Given the description of an element on the screen output the (x, y) to click on. 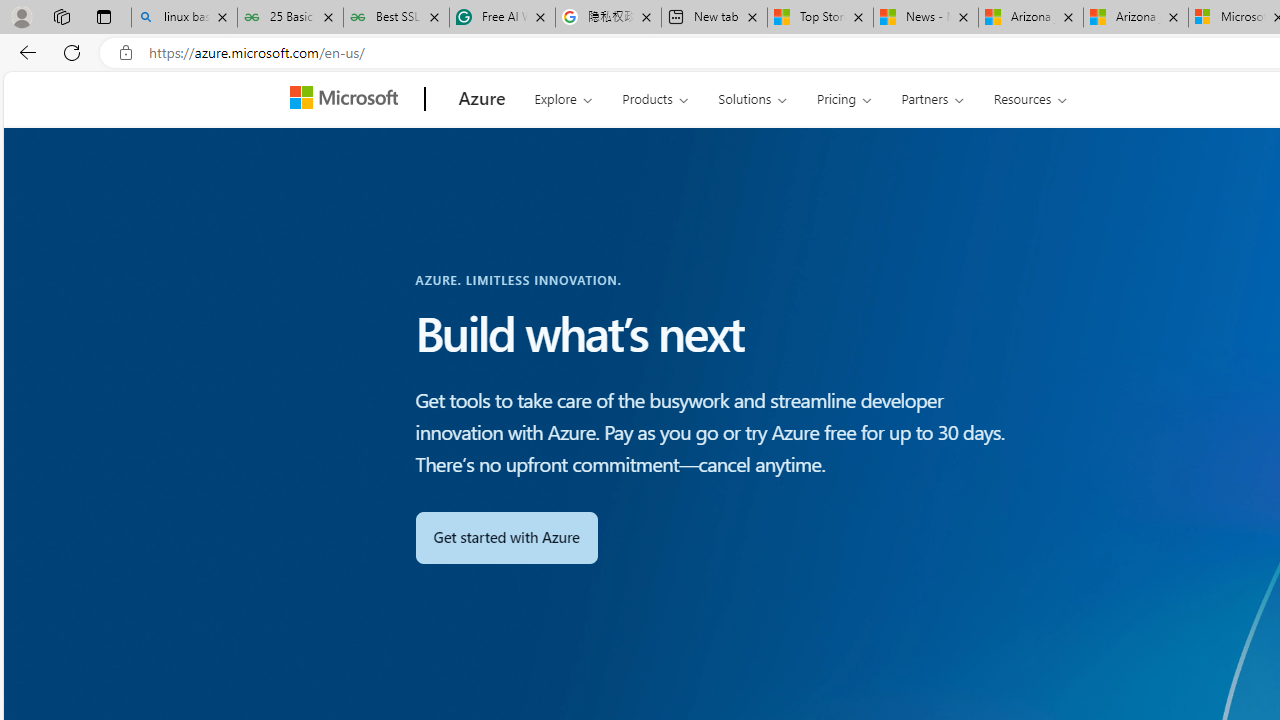
Best SSL Certificates Provider in India - GeeksforGeeks (396, 17)
Get started with Pay as you go using Azure (505, 537)
News - MSN (925, 17)
Azure (481, 99)
Free AI Writing Assistance for Students | Grammarly (502, 17)
25 Basic Linux Commands For Beginners - GeeksforGeeks (290, 17)
